Given the description of an element on the screen output the (x, y) to click on. 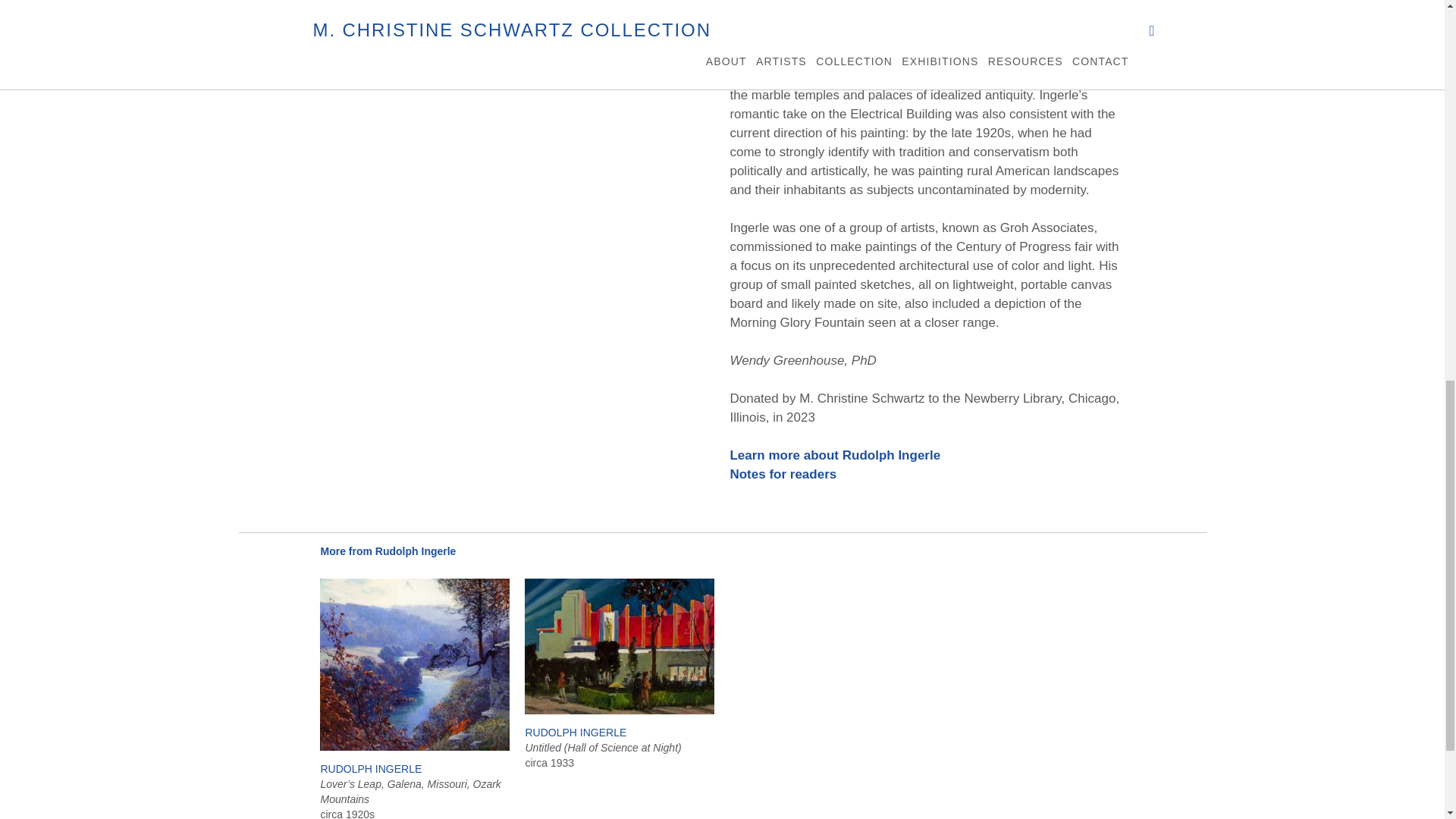
Learn more about Rudolph Ingerle (834, 454)
Notes for readers (782, 473)
The Fountain, Electrical Building (956, 56)
